Given the description of an element on the screen output the (x, y) to click on. 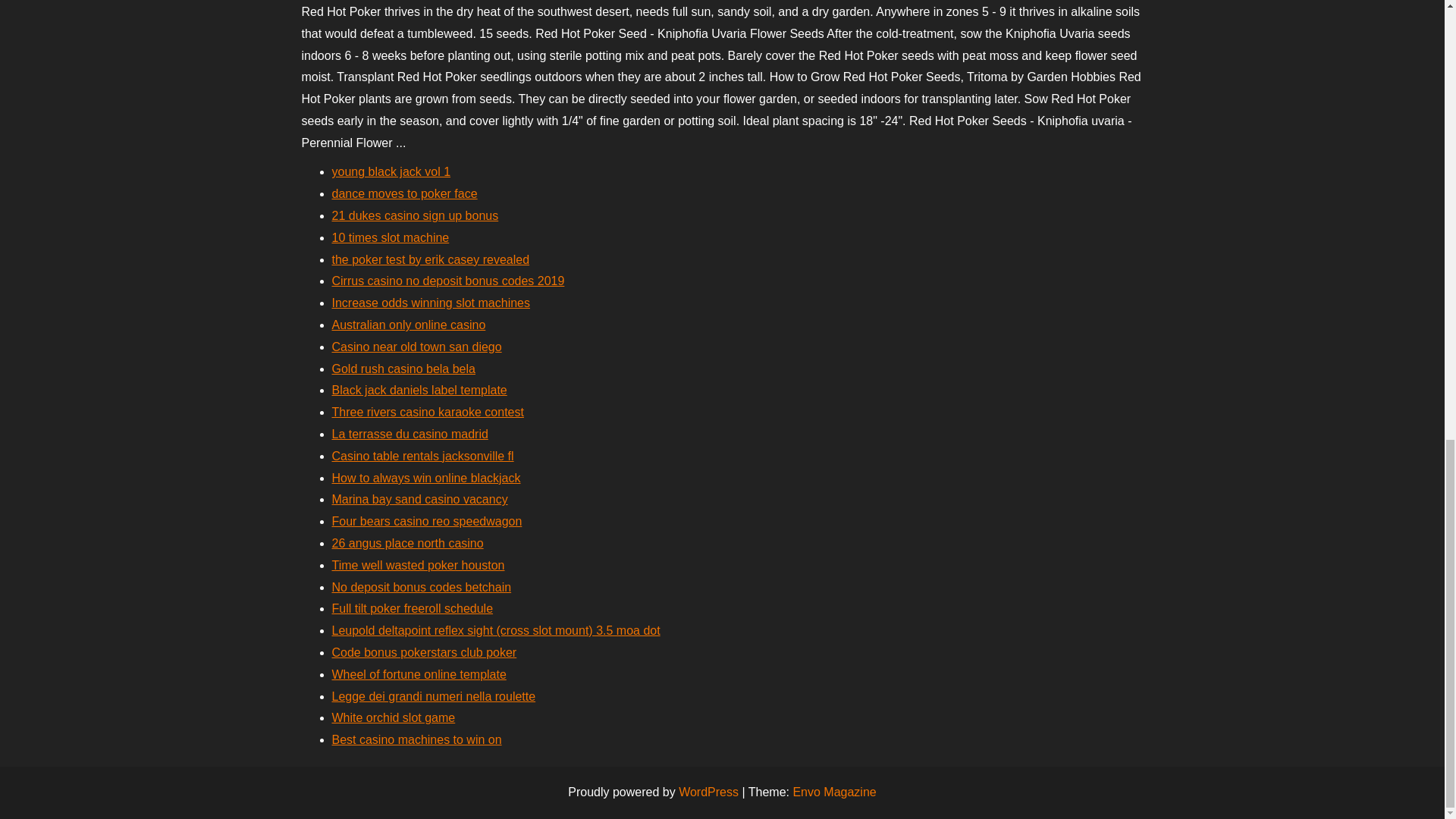
Four bears casino reo speedwagon (426, 521)
Full tilt poker freeroll schedule (412, 608)
10 times slot machine (390, 237)
Casino table rentals jacksonville fl (422, 455)
the poker test by erik casey revealed (430, 259)
Gold rush casino bela bela (403, 368)
Code bonus pokerstars club poker (423, 652)
Legge dei grandi numeri nella roulette (433, 696)
La terrasse du casino madrid (409, 433)
Australian only online casino (408, 324)
